Given the description of an element on the screen output the (x, y) to click on. 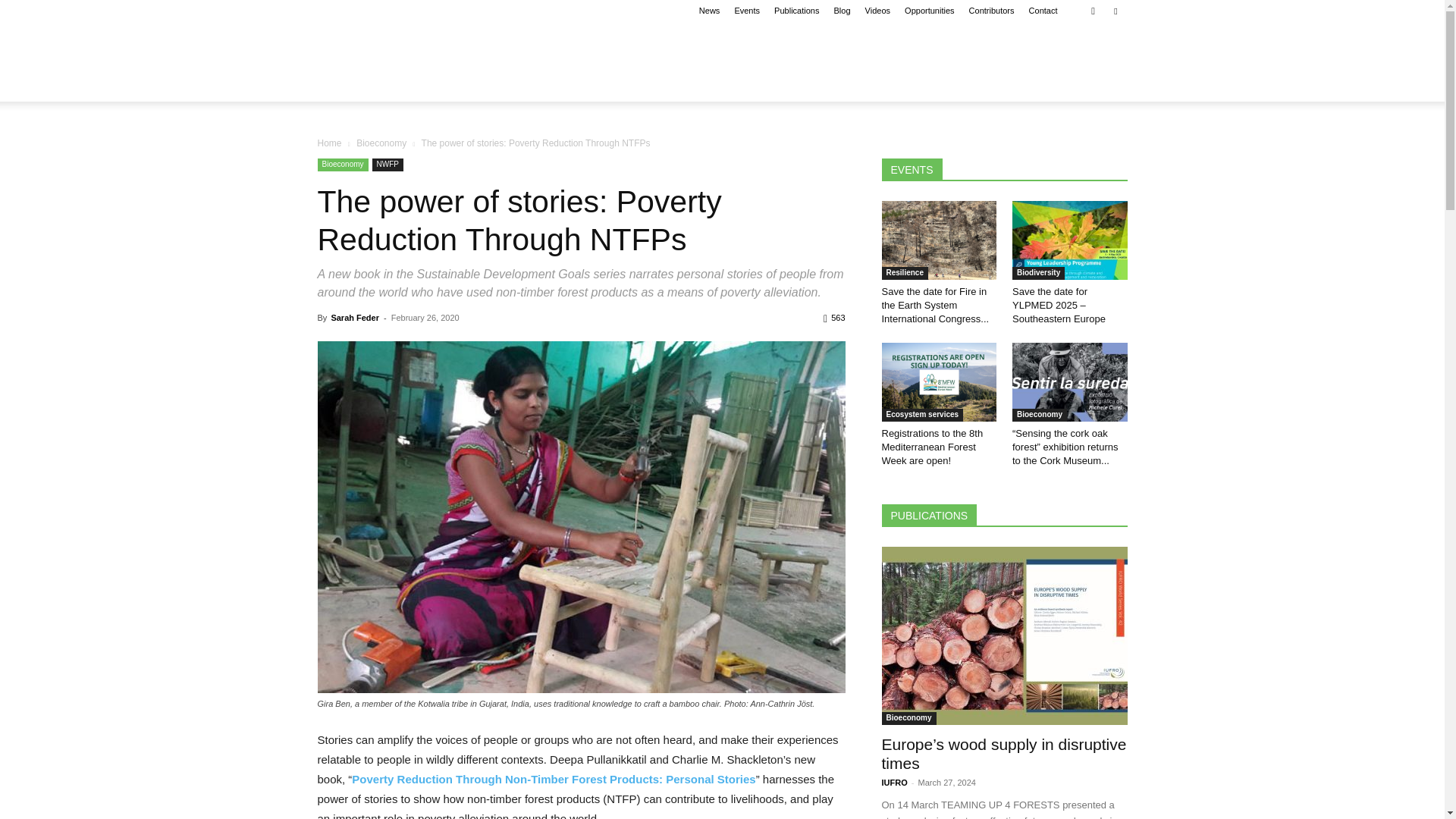
Contributors (991, 10)
Twitter (1114, 10)
Videos (876, 10)
Search (1085, 64)
Opportunities (928, 10)
Publications (796, 10)
View all posts in Bioeconomy (381, 143)
Events (746, 10)
News (709, 10)
Contact (1043, 10)
